Given the description of an element on the screen output the (x, y) to click on. 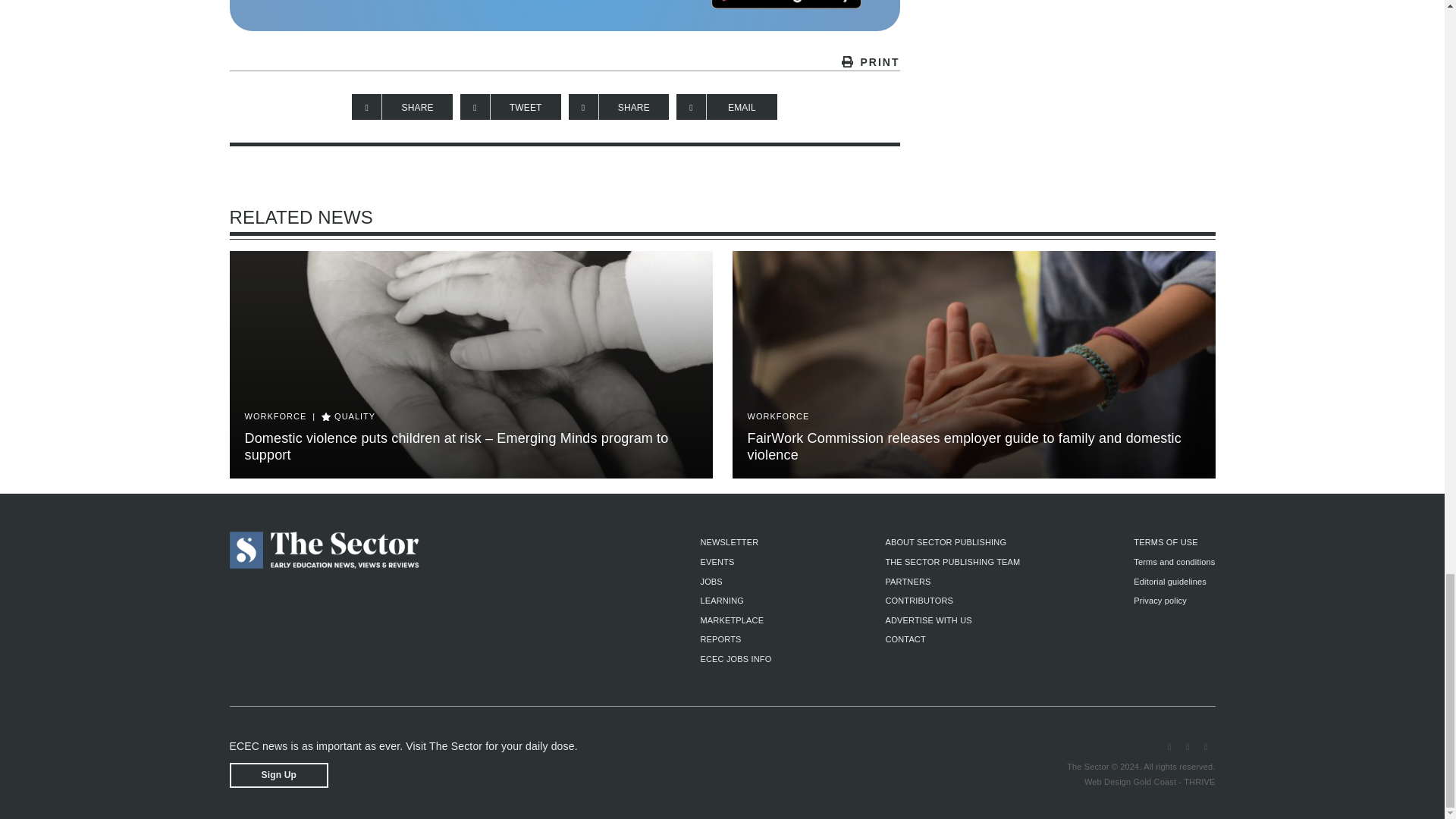
Web Design Gold Coast (1130, 781)
Share on Email (727, 106)
Share on Facebook (402, 106)
Tweet (510, 106)
Share on LinkedIn (619, 106)
